Given the description of an element on the screen output the (x, y) to click on. 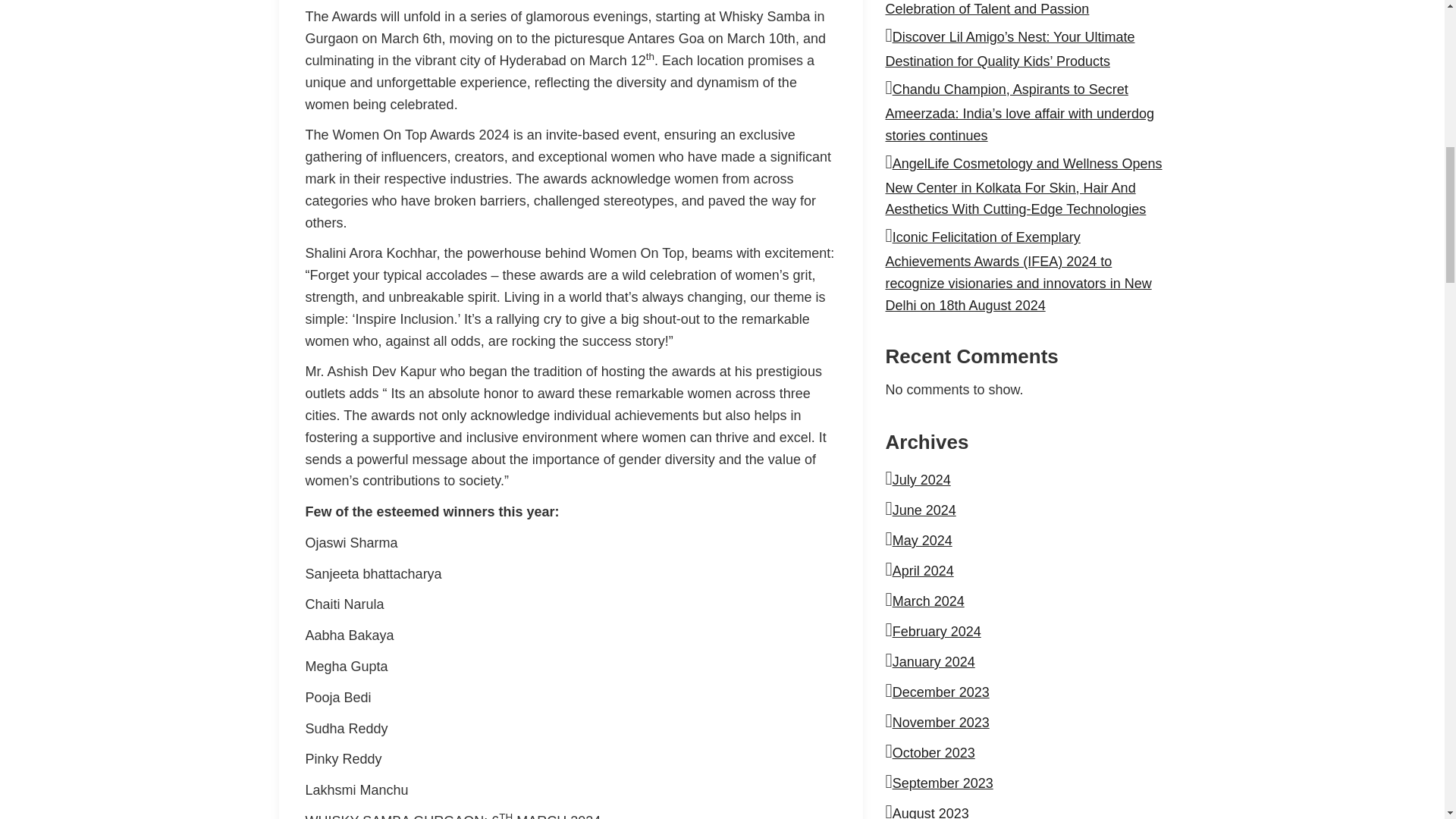
February 2024 (936, 631)
July 2024 (921, 479)
March 2024 (927, 601)
April 2024 (922, 570)
June 2024 (924, 509)
May 2024 (922, 540)
